Given the description of an element on the screen output the (x, y) to click on. 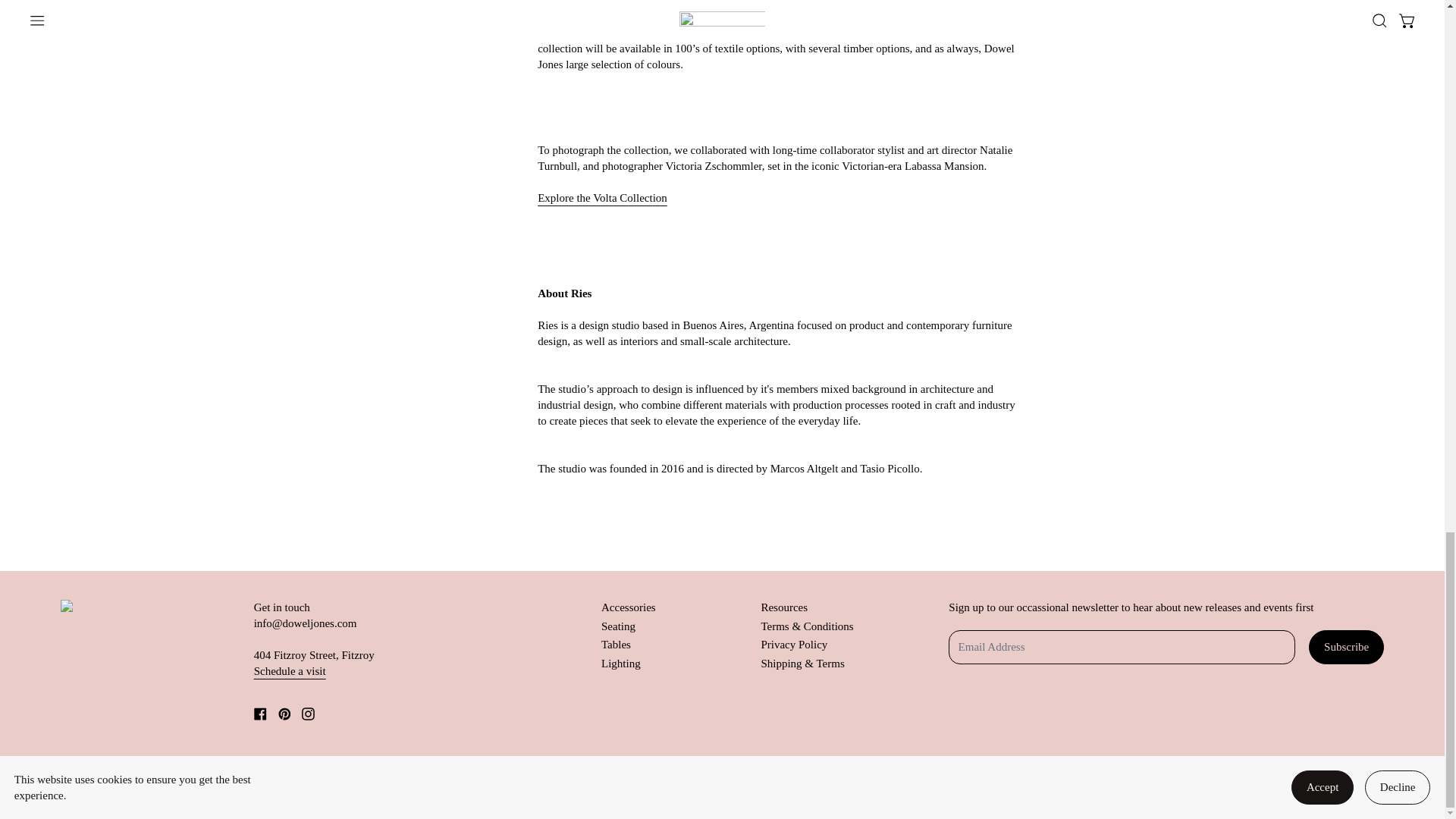
Resources (784, 607)
Privacy Policy (793, 644)
Accessories (628, 607)
Schedule a visit (289, 671)
Tables (615, 644)
Seating (617, 625)
Explore the Volta Collection (601, 197)
Dowel Jones (116, 783)
Subscribe (1346, 647)
Lighting (620, 663)
